Given the description of an element on the screen output the (x, y) to click on. 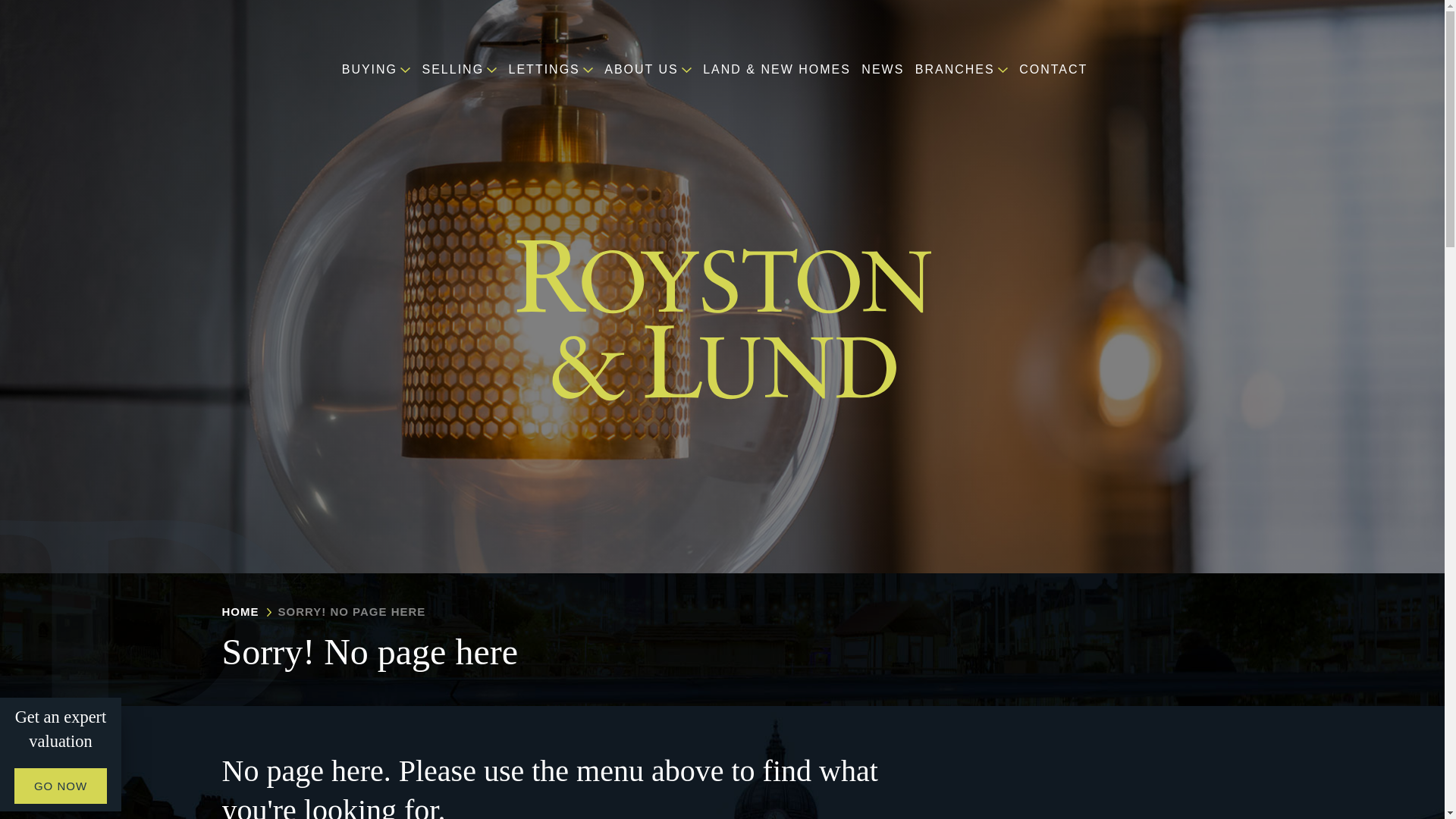
CONTACT (1060, 69)
ABOUT US (652, 69)
SELLING (463, 69)
BRANCHES (965, 69)
NEWS (886, 69)
HOME (240, 611)
SORRY! NO PAGE HERE (351, 611)
BUYING (380, 69)
LETTINGS (554, 69)
